Given the description of an element on the screen output the (x, y) to click on. 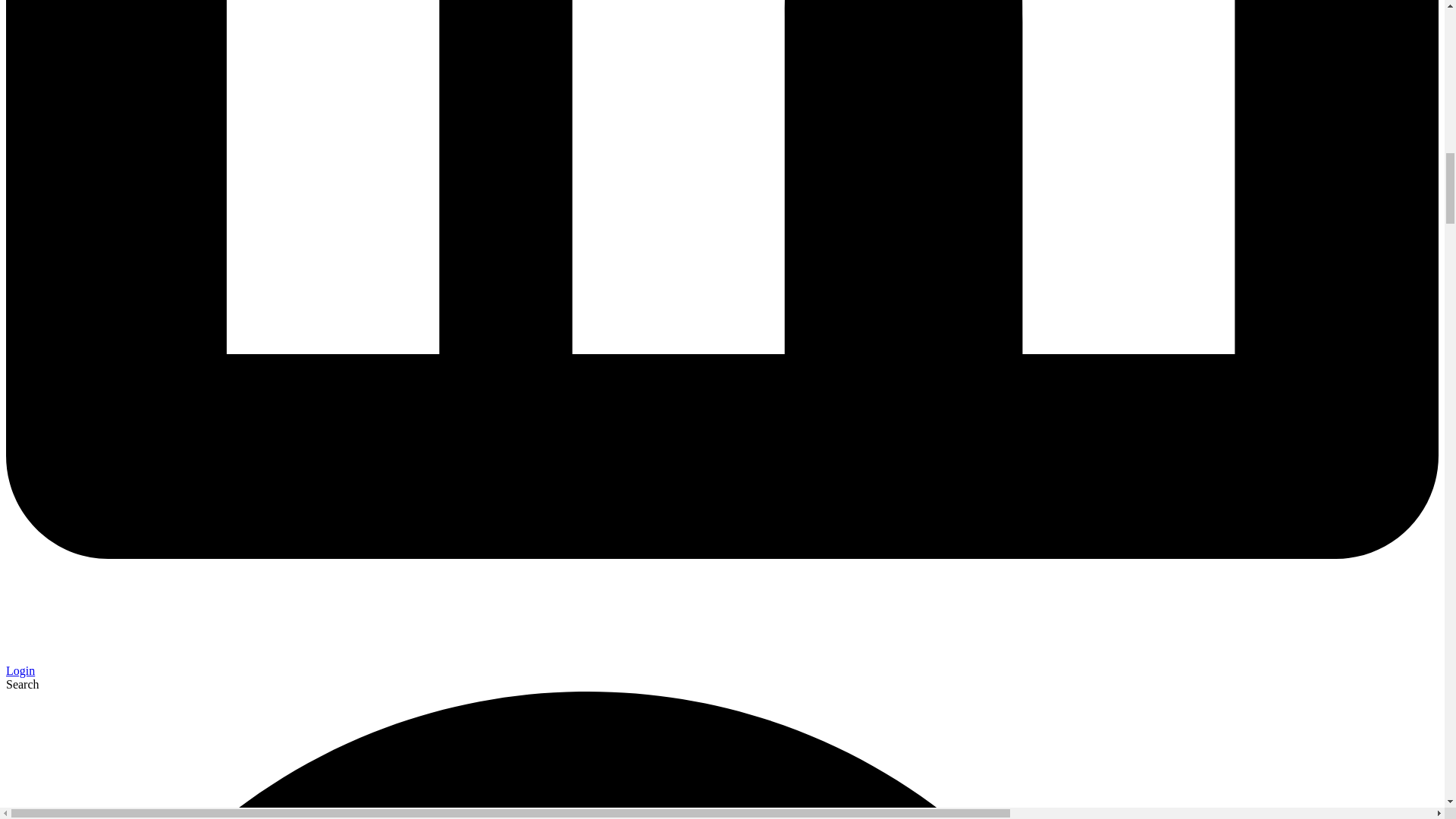
Login (721, 663)
